Given the description of an element on the screen output the (x, y) to click on. 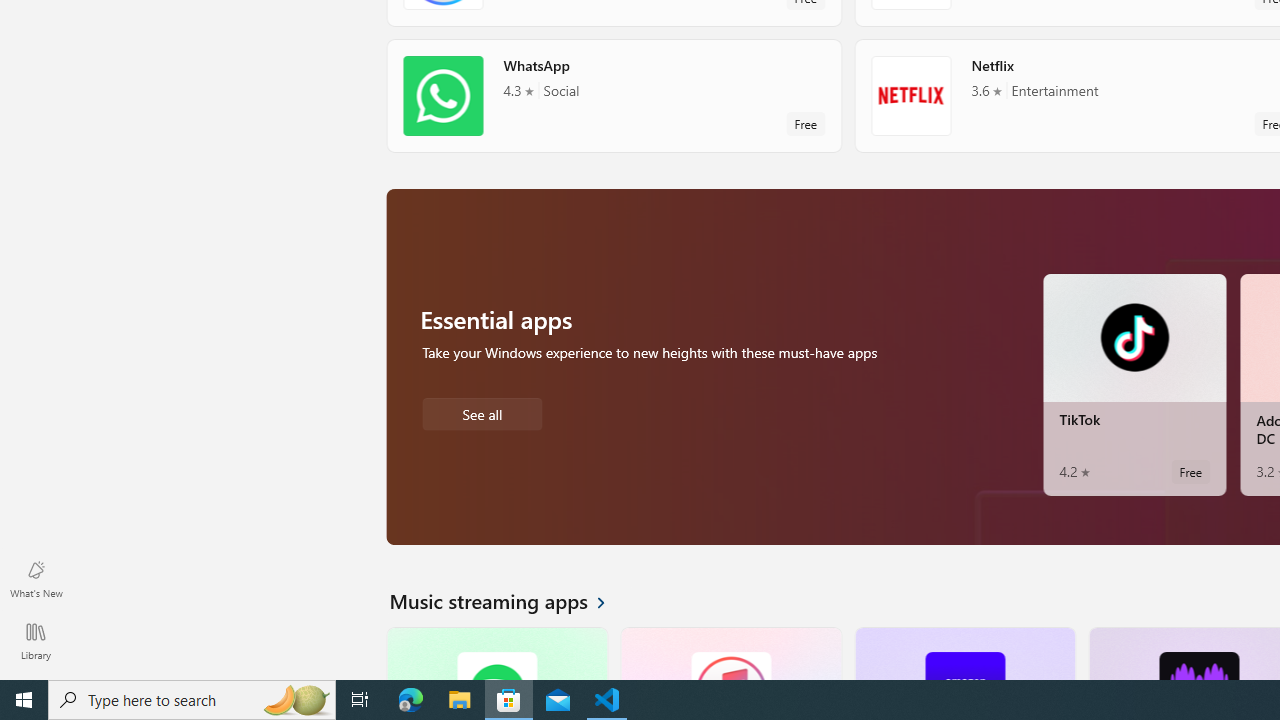
Library (35, 640)
iTunes. Average rating of 2.5 out of five stars. Free   (730, 653)
WhatsApp. Average rating of 4.3 out of five stars. Free   (614, 95)
What's New (35, 578)
See all  Essential apps (481, 412)
TikTok. Average rating of 4.2 out of five stars. Free   (1134, 384)
See all  Music streaming apps (509, 600)
